Given the description of an element on the screen output the (x, y) to click on. 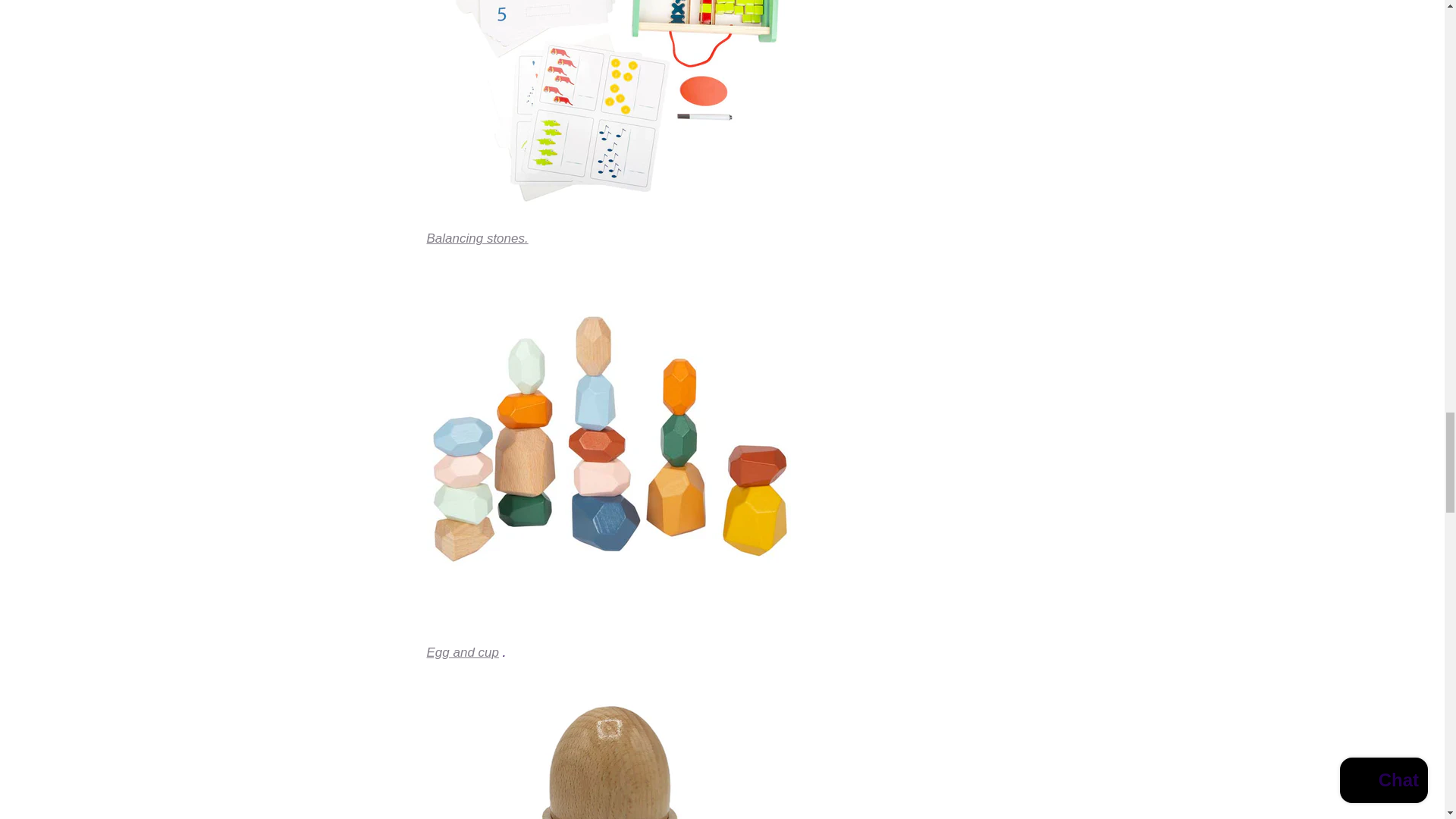
Montessori egg (461, 652)
Montessori letters and activities (608, 206)
Montessori building stones (608, 619)
